Given the description of an element on the screen output the (x, y) to click on. 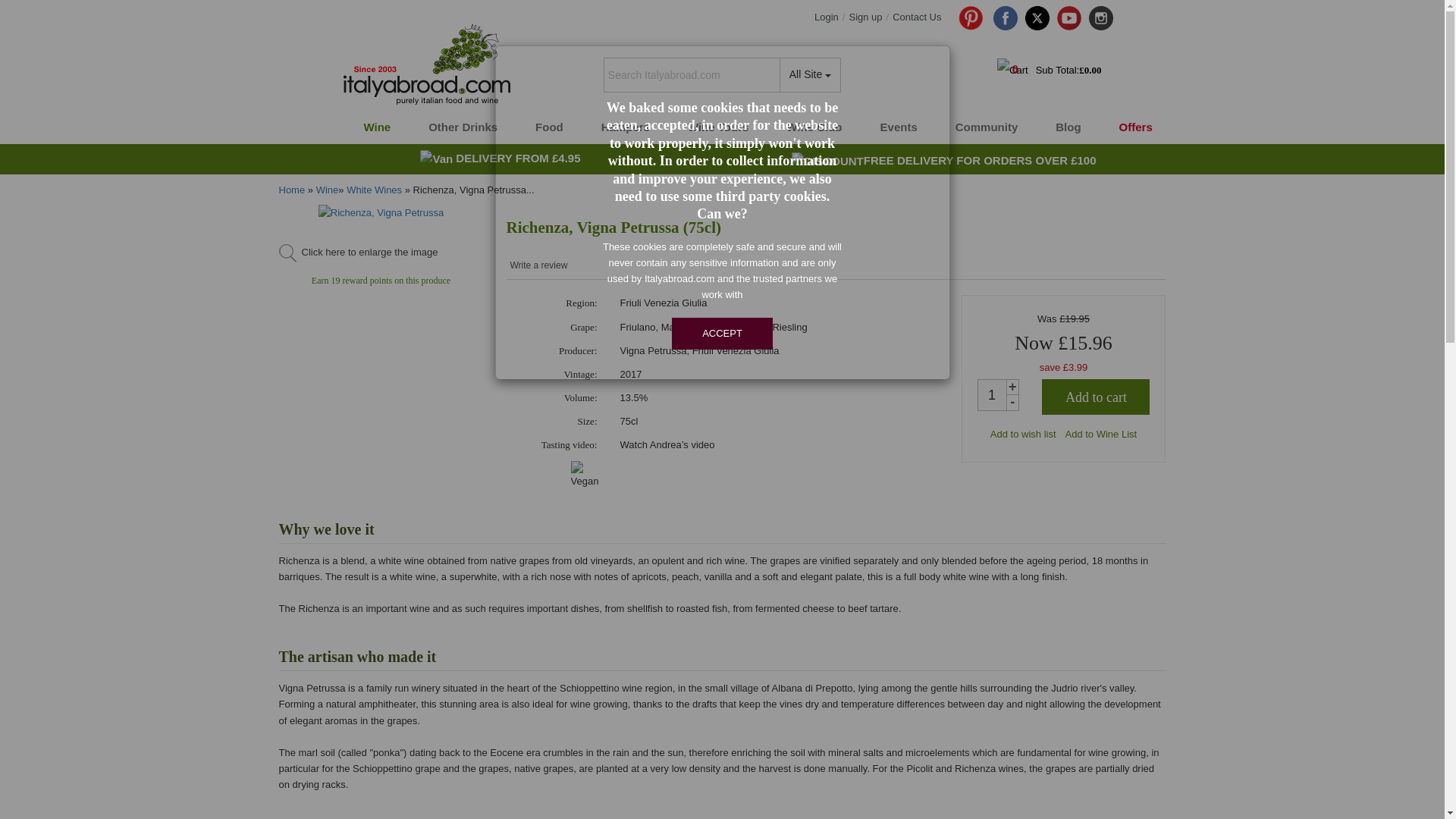
Wine (374, 127)
Login (825, 16)
pin (970, 17)
Contact Us (916, 16)
Login (825, 16)
X (1037, 17)
X (1037, 16)
Italian wine and food (460, 65)
Wine (374, 127)
pin (967, 16)
